Given the description of an element on the screen output the (x, y) to click on. 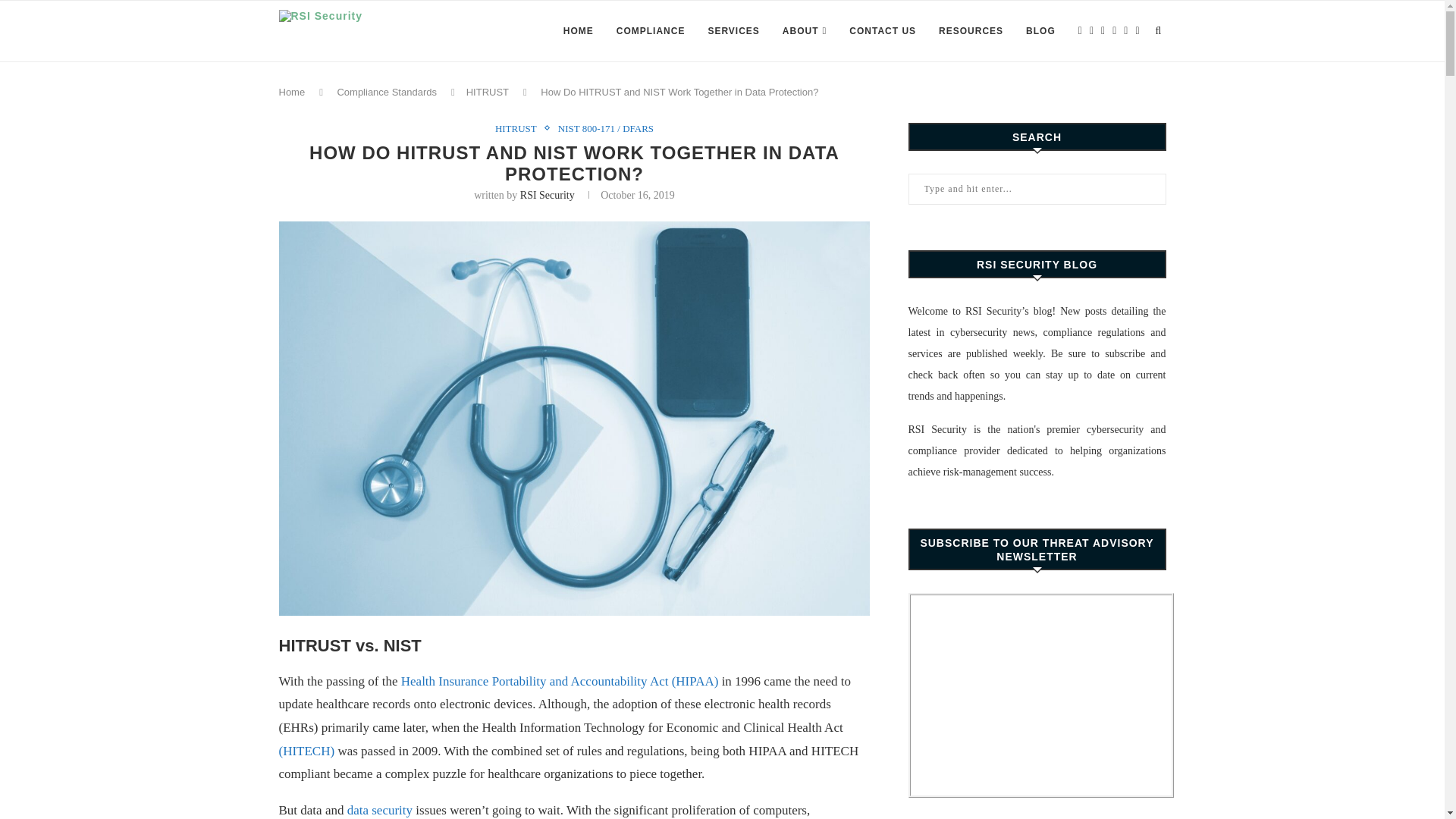
COMPLIANCE (650, 30)
CONTACT US (881, 30)
Home (292, 91)
RESOURCES (971, 30)
